Given the description of an element on the screen output the (x, y) to click on. 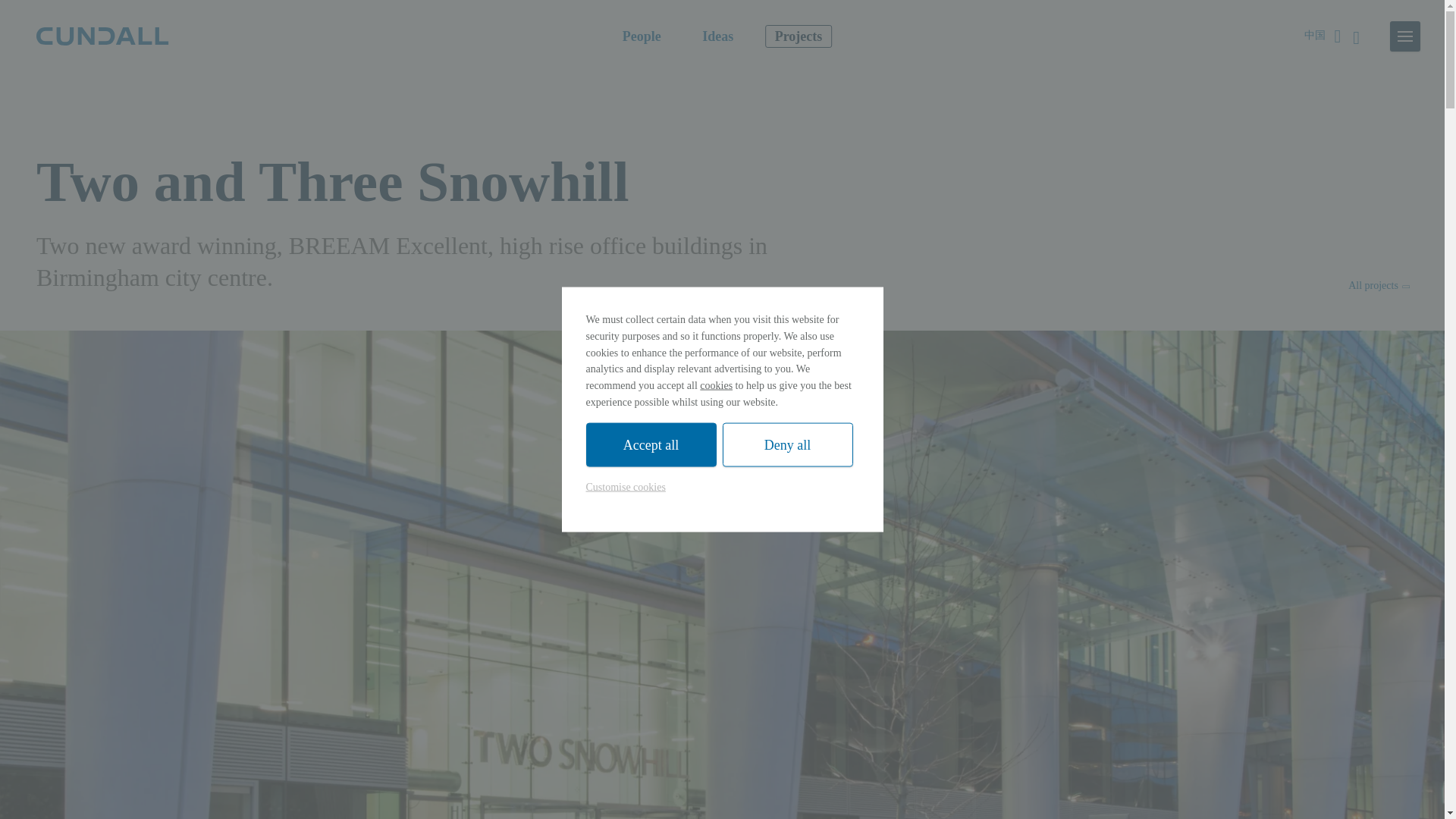
Customise cookies (625, 487)
All projects (1377, 285)
Deny all (786, 444)
Ideas (717, 36)
cookies (716, 385)
Projects (798, 36)
People (641, 36)
Accept all (650, 444)
